Given the description of an element on the screen output the (x, y) to click on. 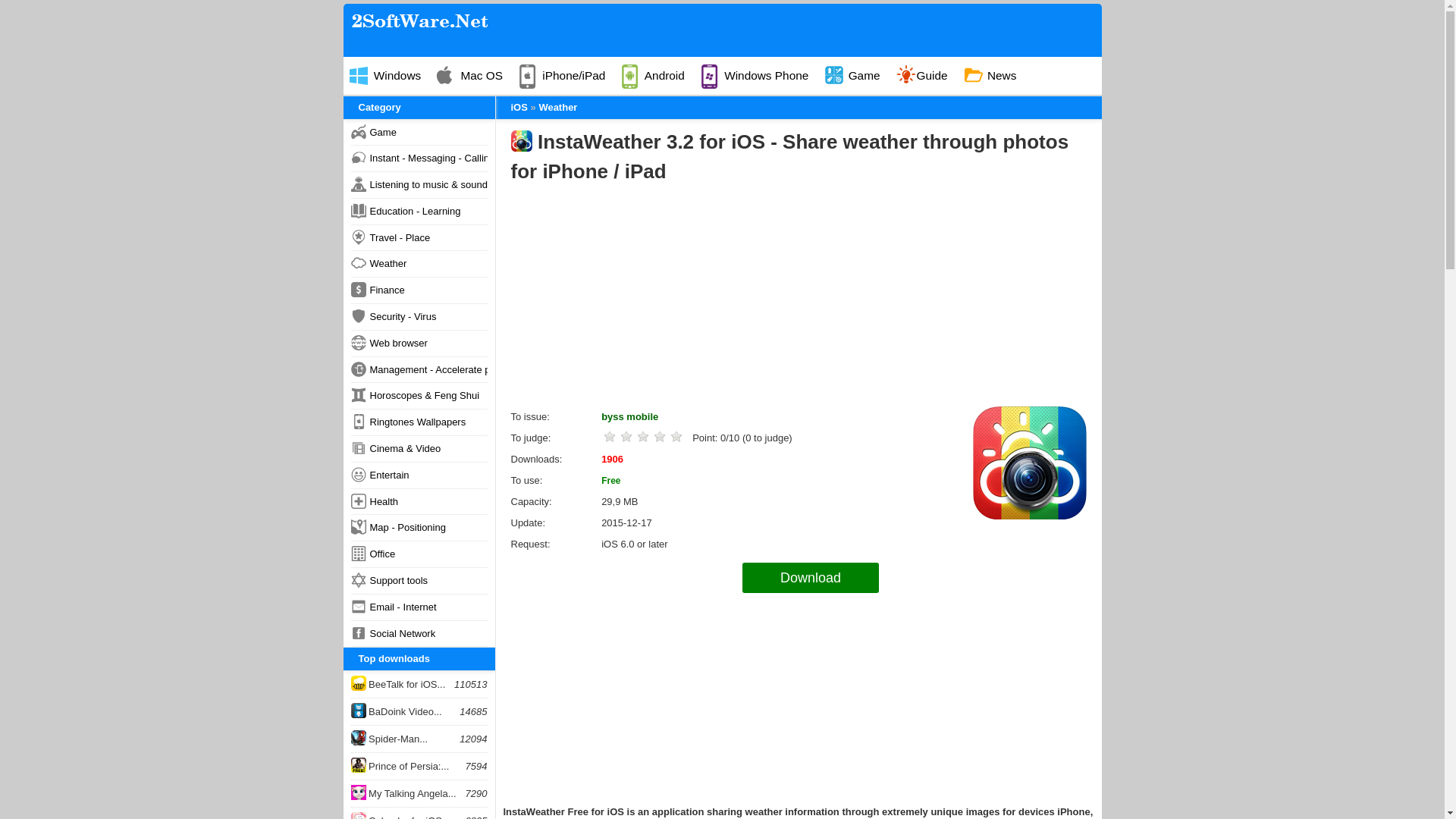
Windows Phone (762, 76)
Android (659, 76)
News (997, 76)
Weather (557, 107)
Windows (392, 76)
Mac OS (476, 76)
Guide (928, 76)
iOS (519, 107)
byss mobile (629, 416)
Download (810, 577)
Game (859, 76)
